Given the description of an element on the screen output the (x, y) to click on. 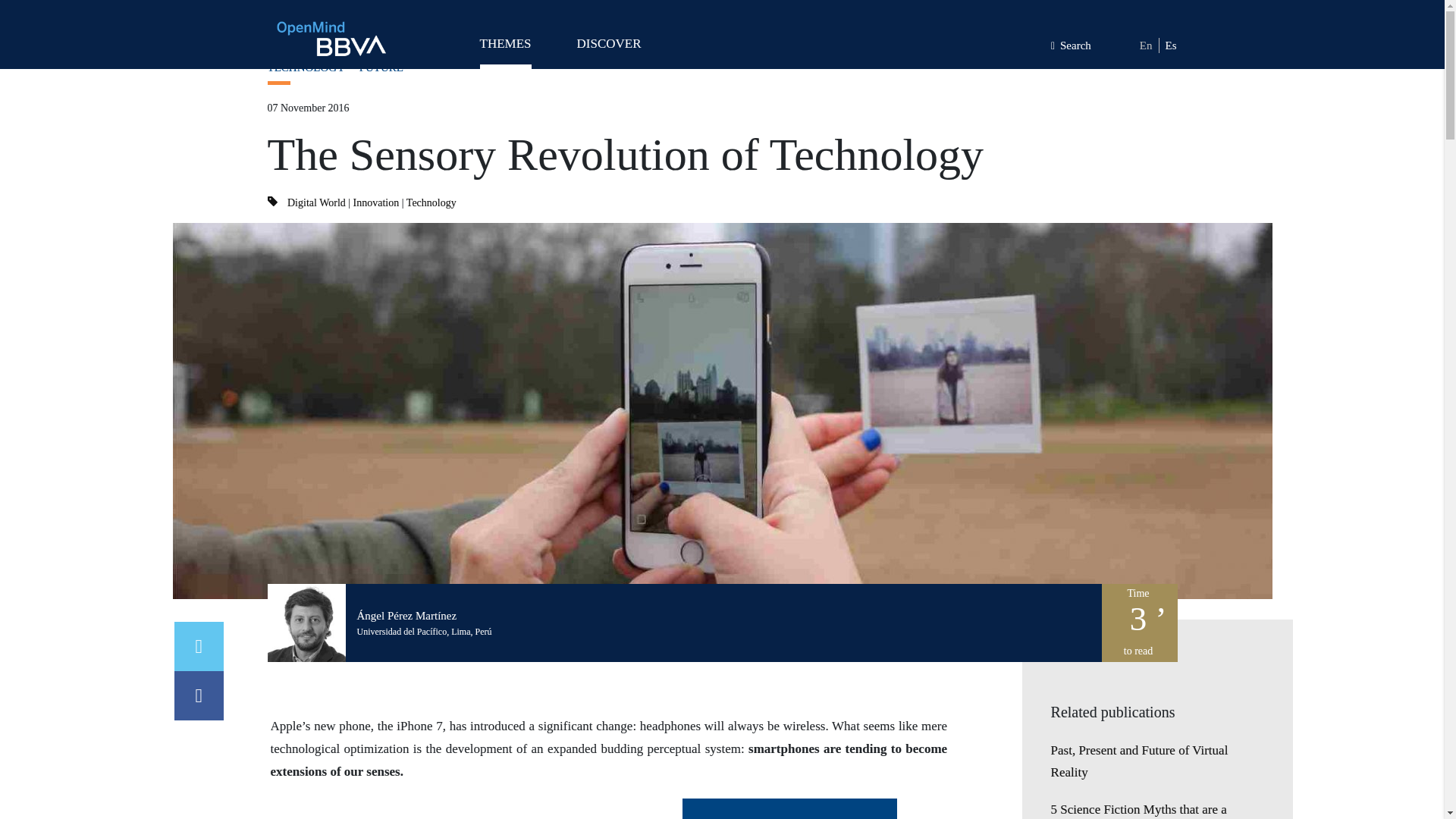
TEMAS (505, 50)
OpenMind (330, 38)
DESCUBRE (608, 50)
Start (276, 25)
OpenMind (330, 38)
